Given the description of an element on the screen output the (x, y) to click on. 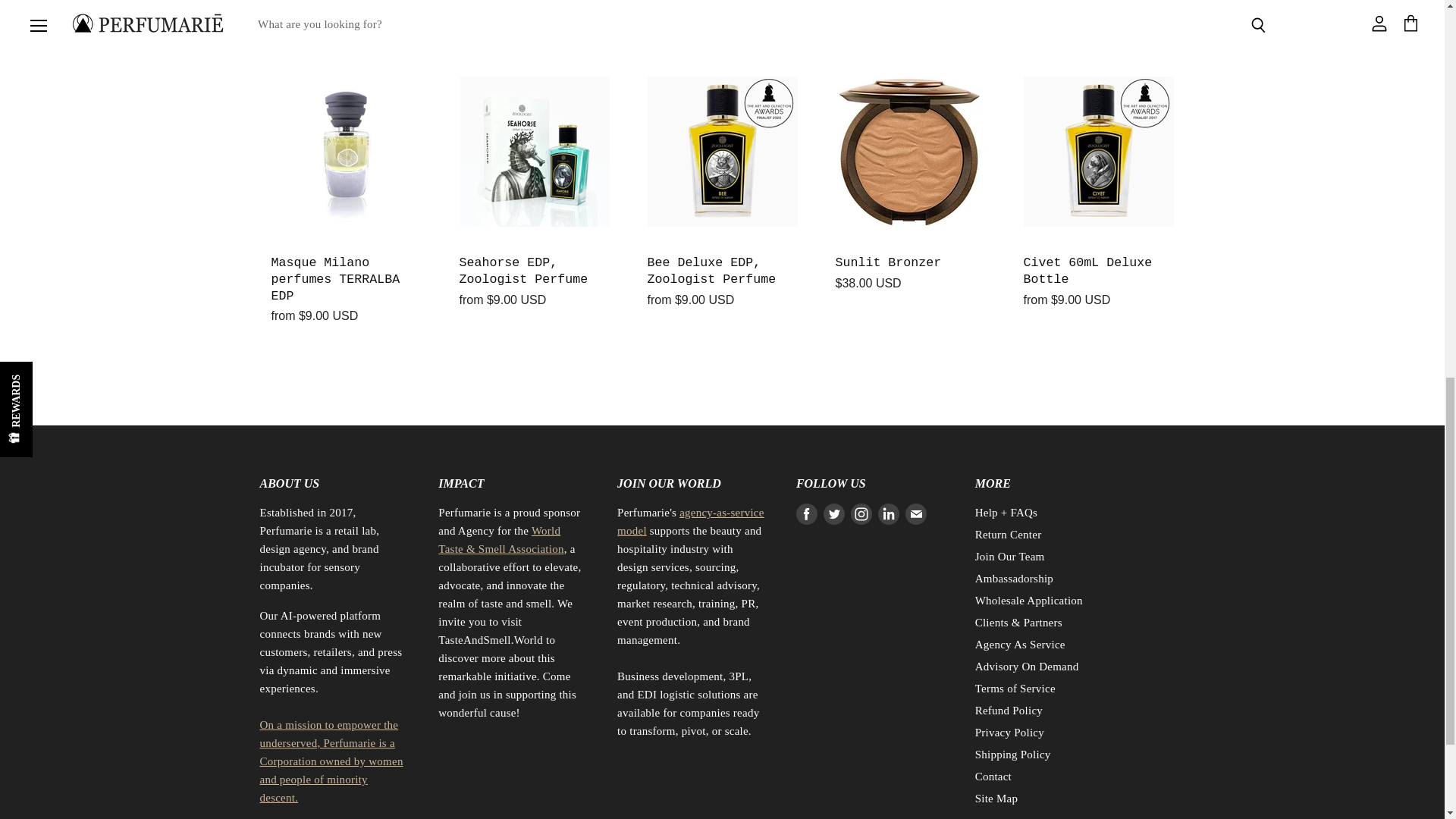
Instagram (861, 513)
LinkedIn (888, 513)
Facebook (807, 513)
Twitter (834, 513)
E-mail (916, 513)
